Given the description of an element on the screen output the (x, y) to click on. 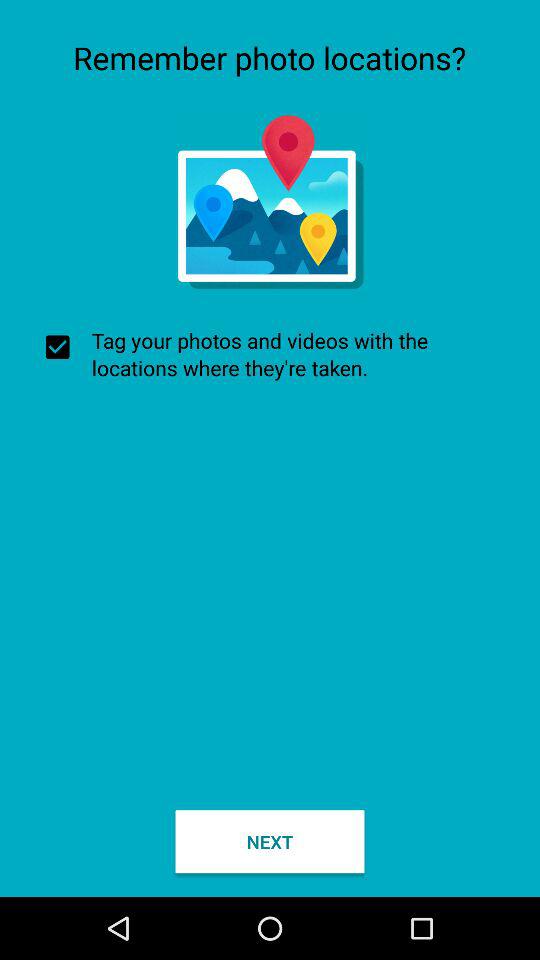
flip to next icon (269, 841)
